Given the description of an element on the screen output the (x, y) to click on. 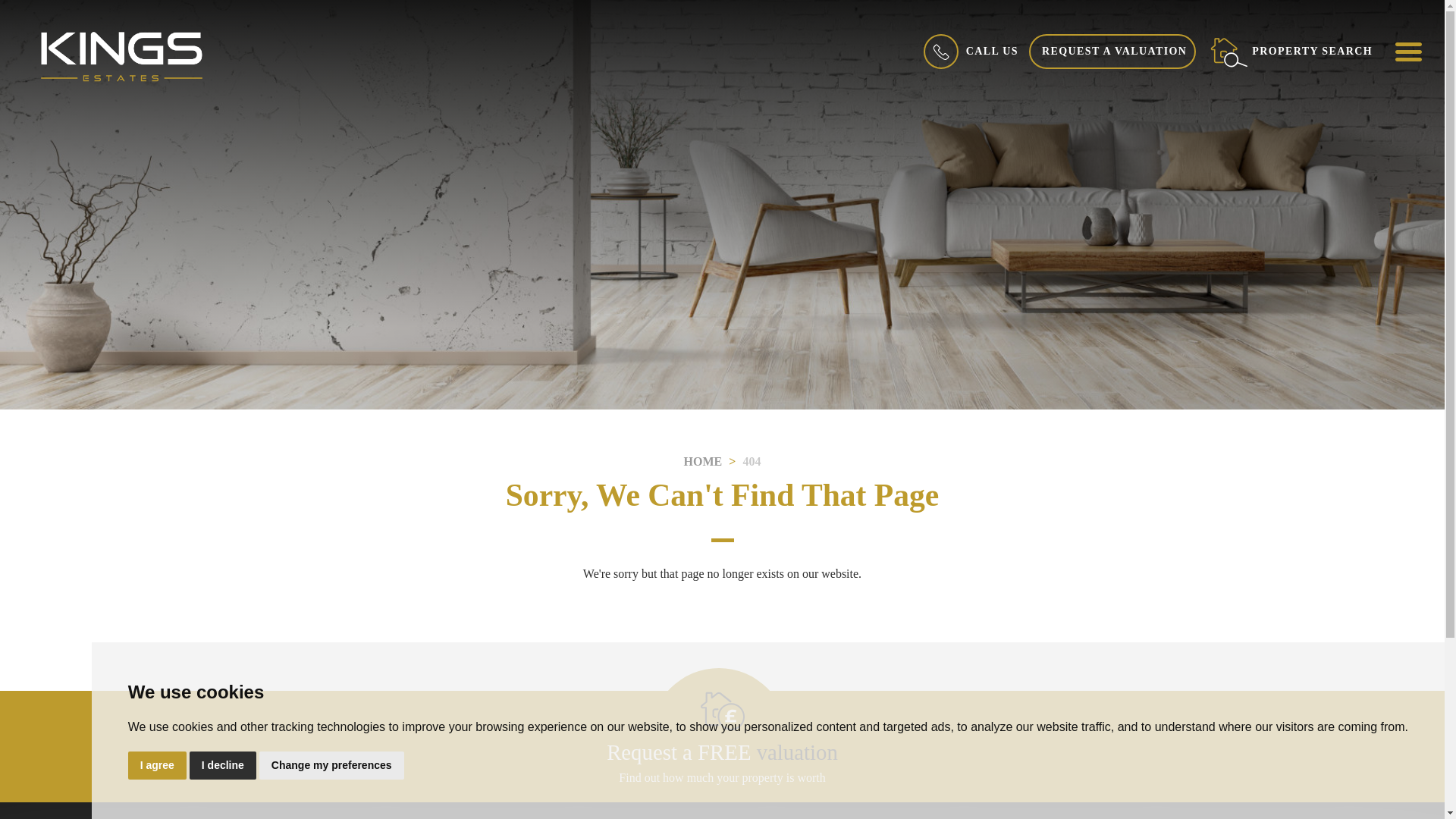
I decline (222, 765)
Change my preferences (331, 765)
CALL US (969, 50)
MENU (1406, 50)
PROPERTY SEARCH (1291, 50)
HOME (703, 461)
404 (751, 461)
REQUEST A VALUATION (1112, 51)
I agree (157, 765)
